Given the description of an element on the screen output the (x, y) to click on. 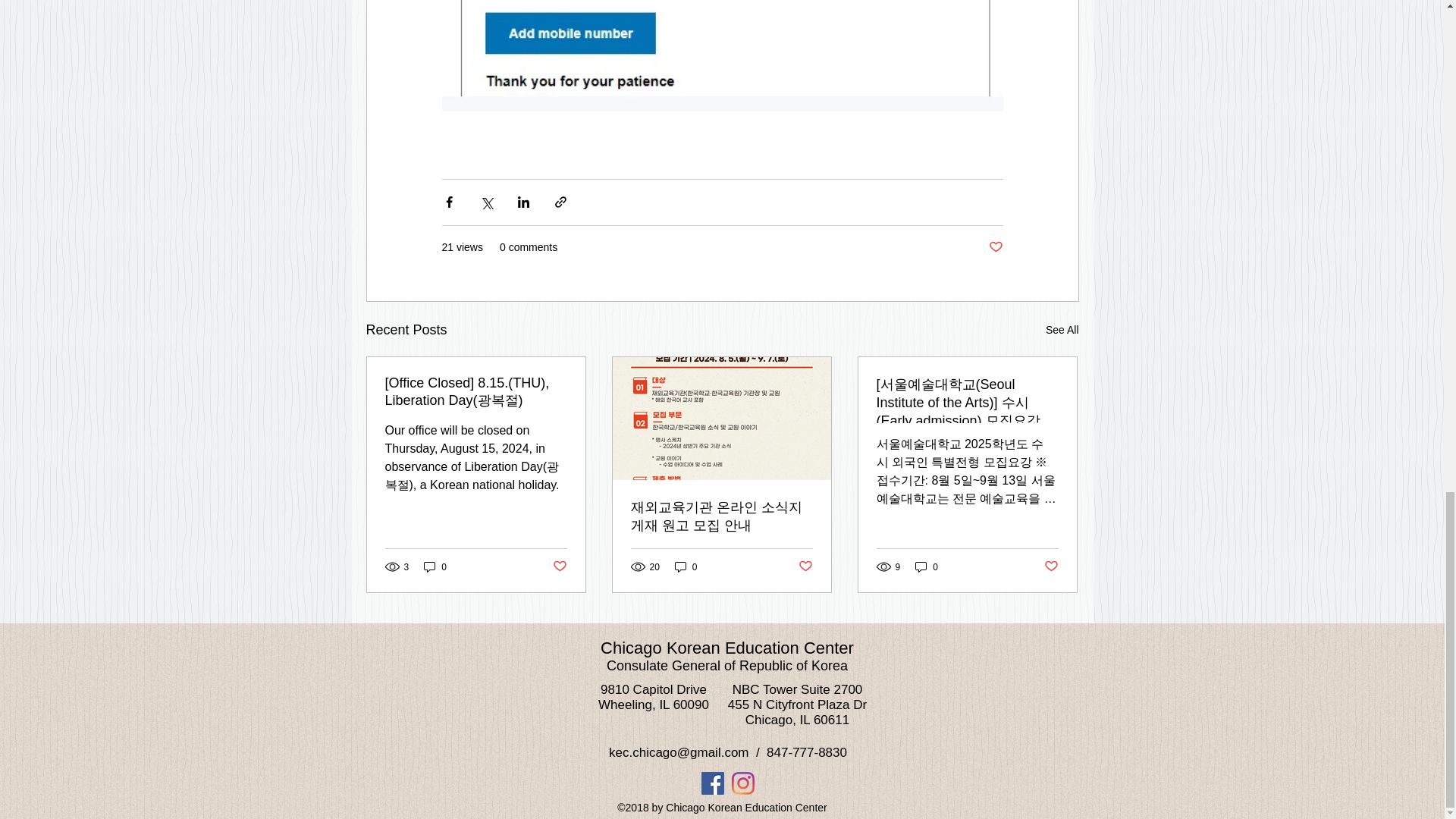
0 (435, 566)
0 (926, 566)
Post not marked as liked (804, 566)
Post not marked as liked (1050, 566)
Post not marked as liked (558, 566)
Post not marked as liked (995, 247)
0 (685, 566)
See All (1061, 330)
Chicago Korean Education Center (726, 647)
